Given the description of an element on the screen output the (x, y) to click on. 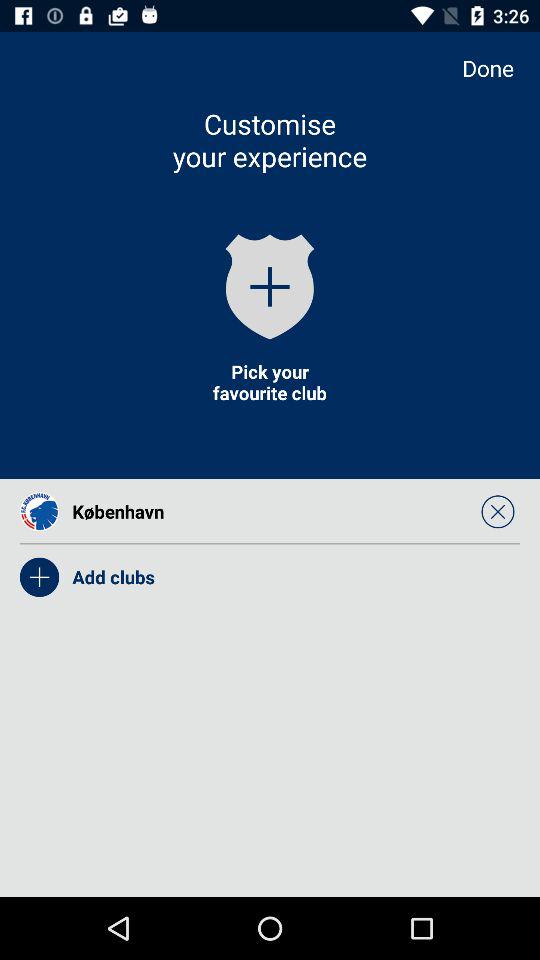
turn off the icon on the right (497, 511)
